Given the description of an element on the screen output the (x, y) to click on. 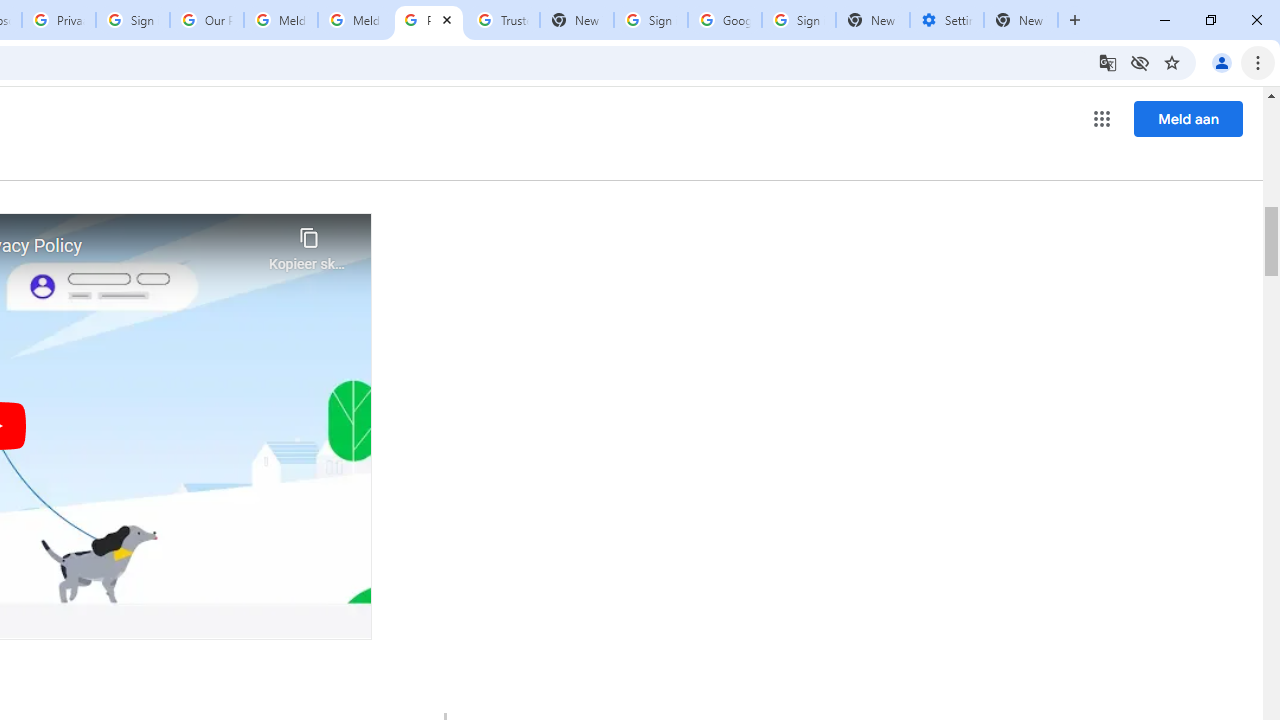
New Tab (1021, 20)
New Tab (872, 20)
Sign in - Google Accounts (133, 20)
Kopieer skakel (308, 244)
Settings - Addresses and more (947, 20)
Trusted Information and Content - Google Safety Center (502, 20)
